Given the description of an element on the screen output the (x, y) to click on. 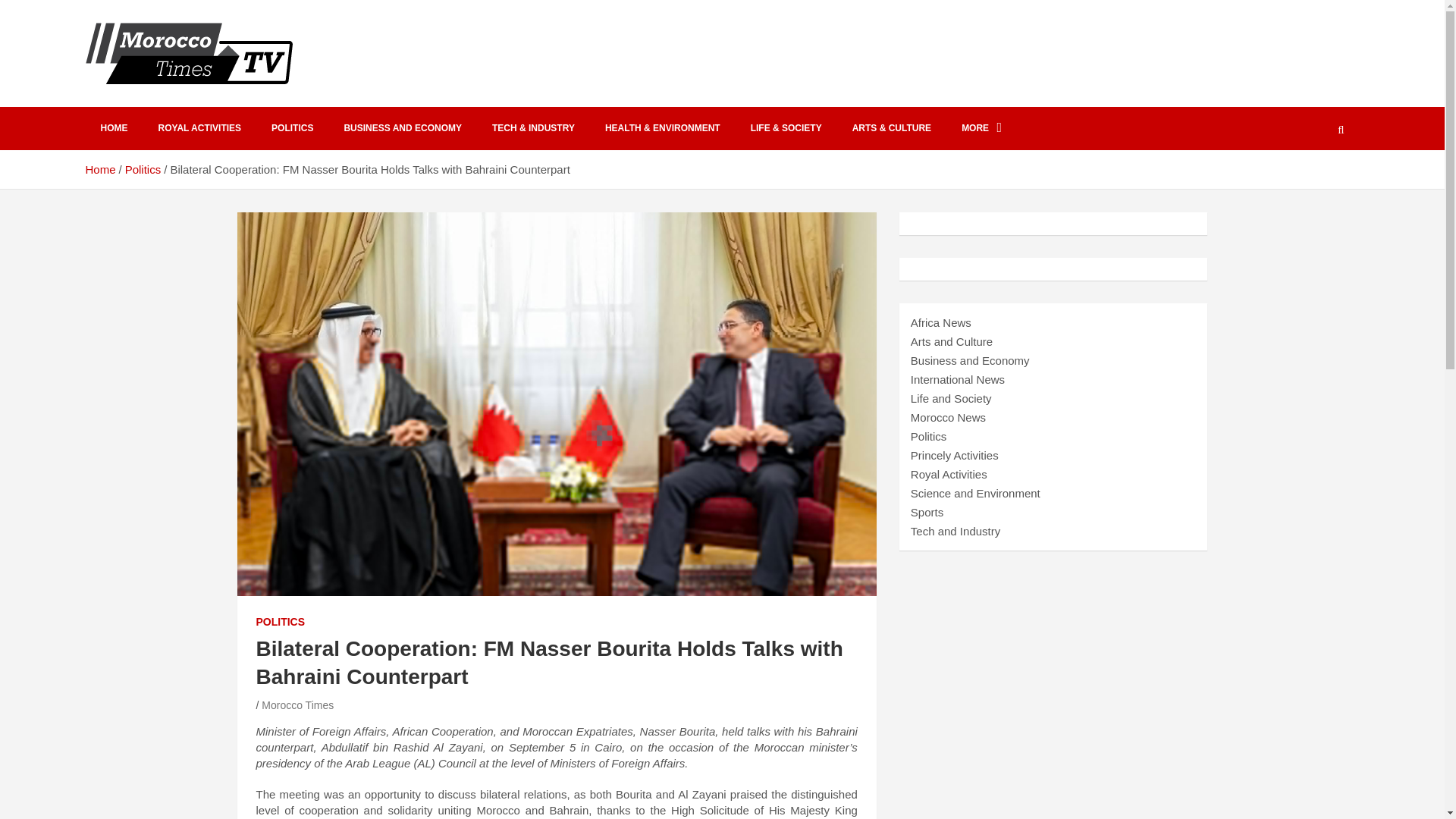
MORE (981, 128)
Morocco Times (297, 705)
Africa News (941, 322)
International News (957, 379)
BUSINESS AND ECONOMY (403, 128)
Royal Activities (949, 473)
Business and Economy (970, 359)
POLITICS (292, 128)
Morocco times TV (215, 103)
Tech and Industry (955, 530)
Morocco News (948, 417)
Science and Environment (976, 492)
Politics (143, 169)
Home (99, 169)
Life and Society (951, 398)
